Given the description of an element on the screen output the (x, y) to click on. 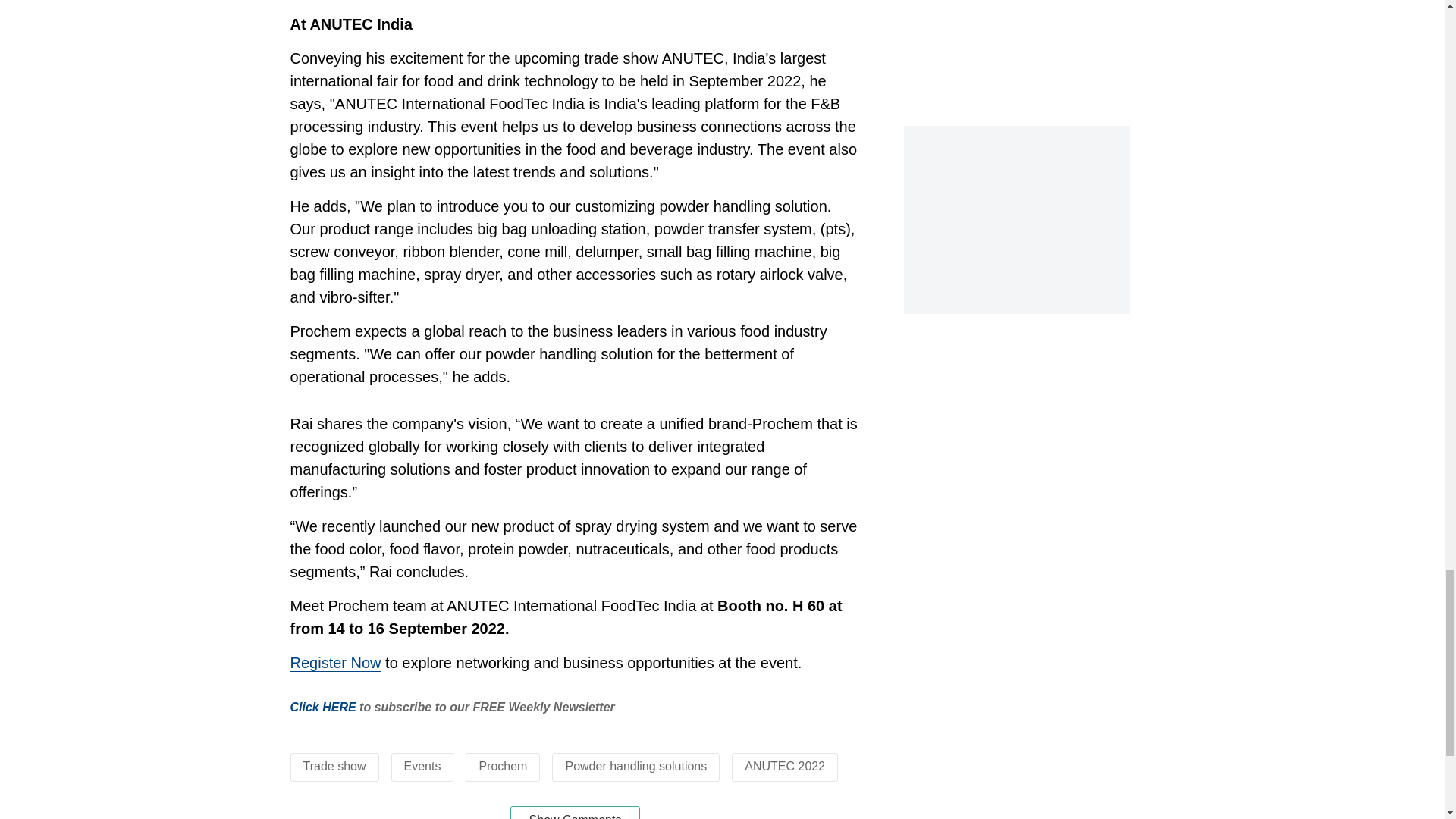
Register Now (334, 662)
Click HERE (322, 707)
Prochem (503, 766)
Trade show (334, 766)
Events (422, 766)
